Given the description of an element on the screen output the (x, y) to click on. 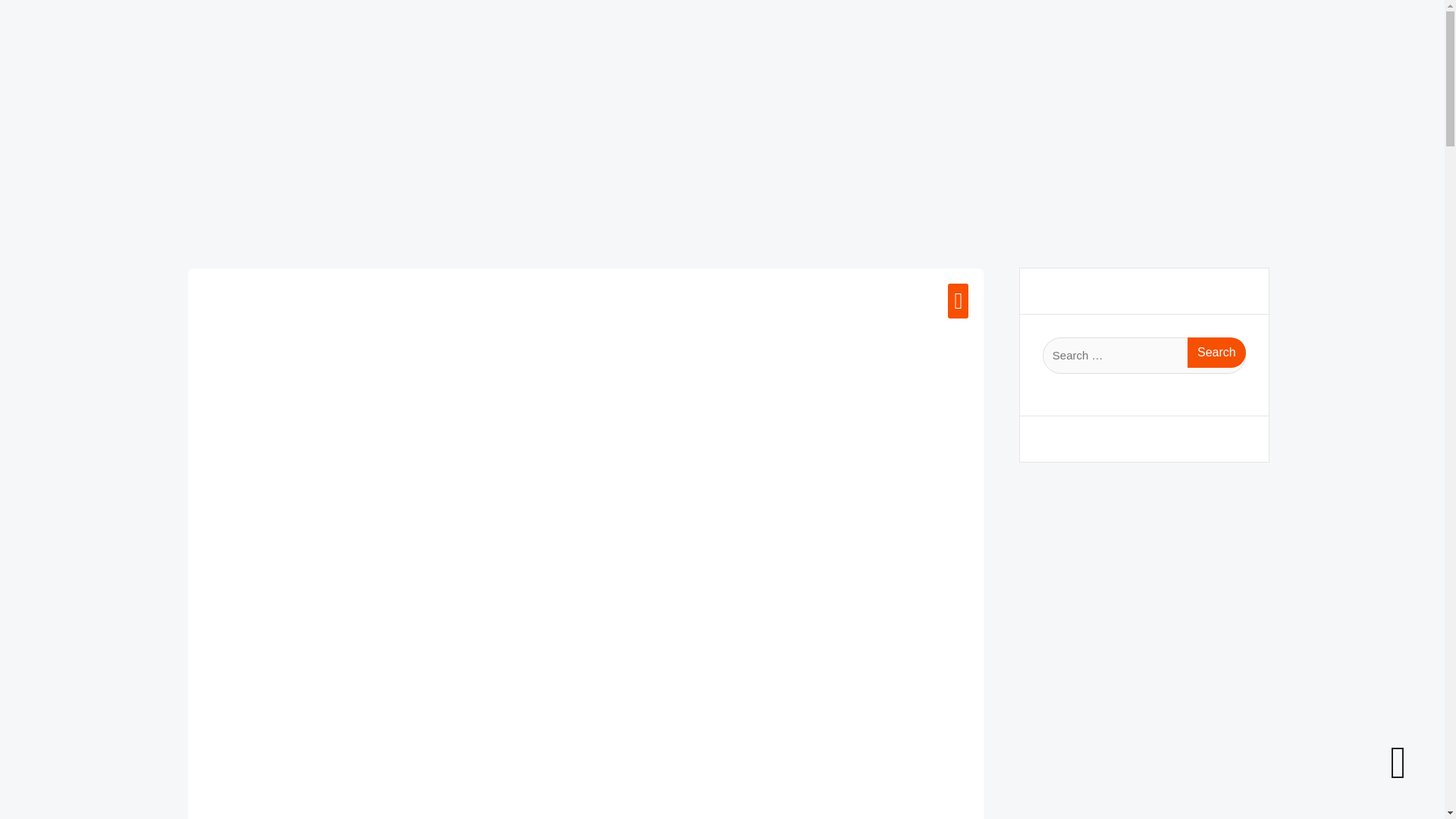
Search (1217, 352)
Search (1217, 352)
Search (1217, 352)
